Given the description of an element on the screen output the (x, y) to click on. 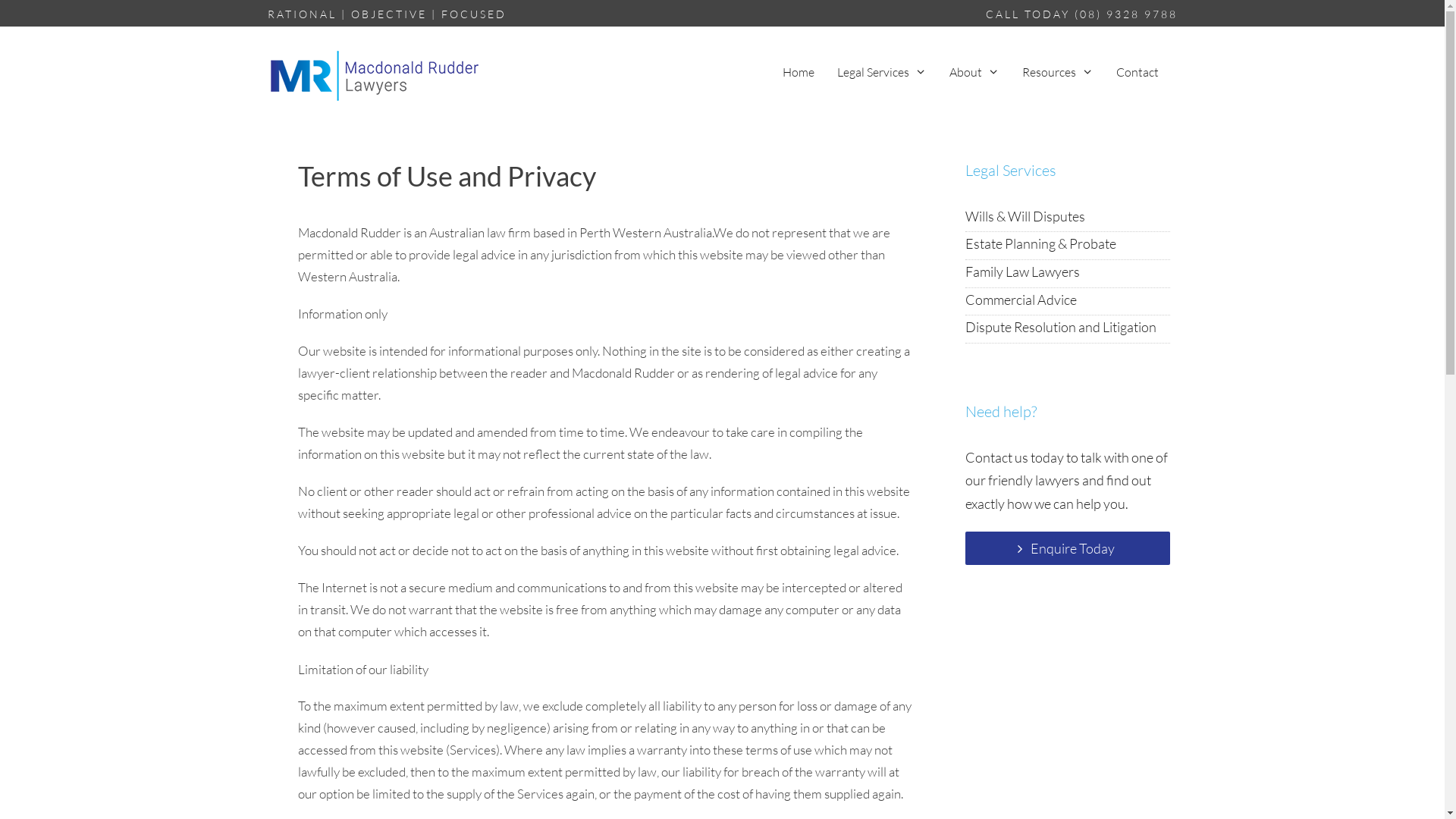
Estate Planning & Probate Element type: text (1039, 243)
(08) 9328 9788 Element type: text (1124, 13)
Wills & Will Disputes Element type: text (1024, 215)
About Element type: text (974, 71)
Family Law Lawyers Element type: text (1021, 271)
Home Element type: text (798, 71)
Dispute Resolution and Litigation Element type: text (1059, 326)
Legal Services Element type: text (881, 71)
Enquire Today Element type: text (1066, 547)
Resources Element type: text (1057, 71)
Contact Element type: text (1136, 71)
Commercial Advice Element type: text (1020, 299)
